Given the description of an element on the screen output the (x, y) to click on. 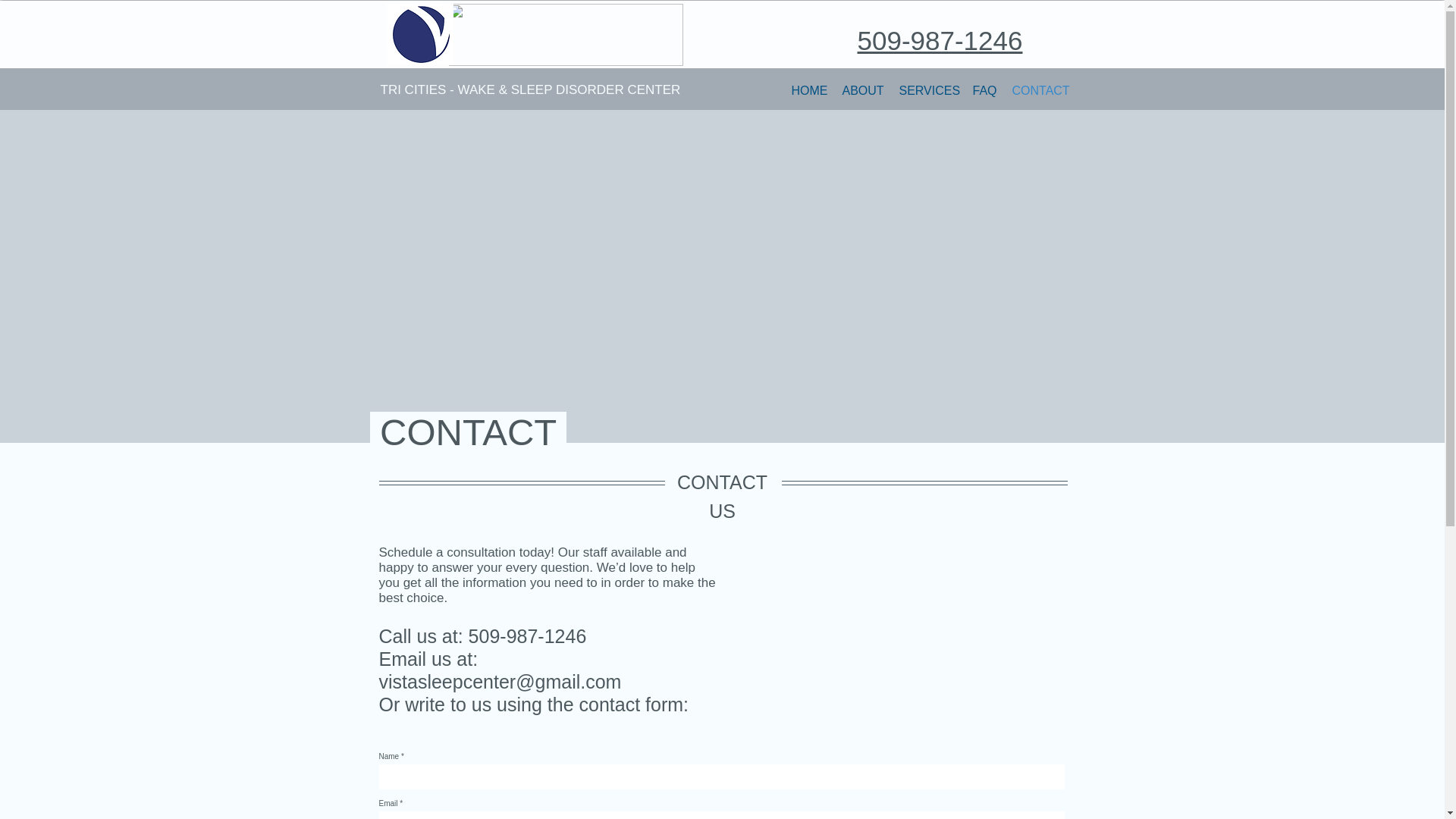
HOME (809, 89)
ABOUT (862, 89)
SERVICES (928, 89)
CONTACT (1039, 89)
509-987-1246 (939, 40)
FAQ (983, 89)
